Given the description of an element on the screen output the (x, y) to click on. 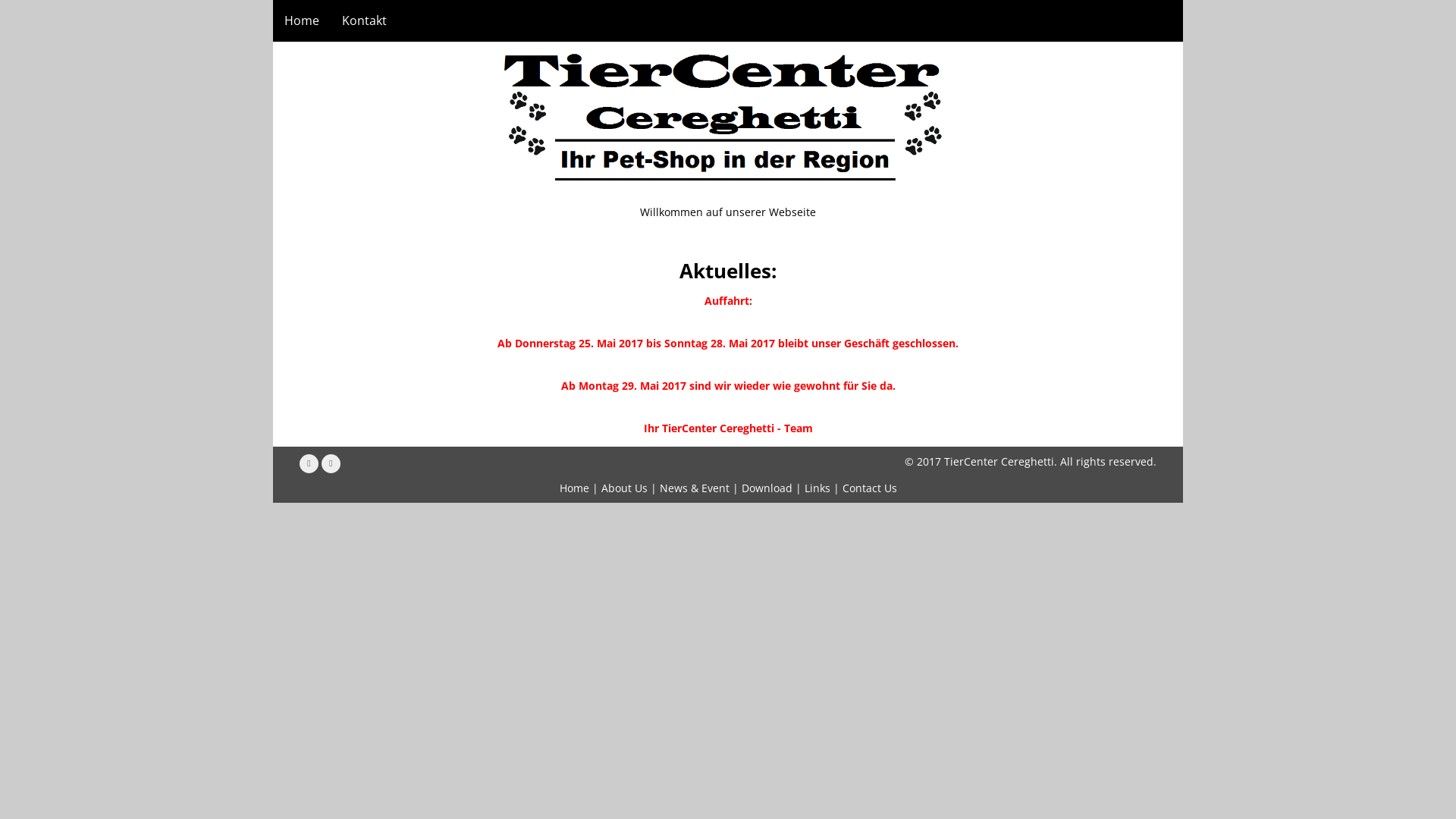
About Us Element type: text (623, 487)
Home Element type: text (301, 20)
Kontakt Element type: text (364, 20)
Home Element type: text (574, 487)
Contact Us Element type: text (868, 487)
Links Element type: text (816, 487)
Download Element type: text (766, 487)
News & Event Element type: text (694, 487)
